Given the description of an element on the screen output the (x, y) to click on. 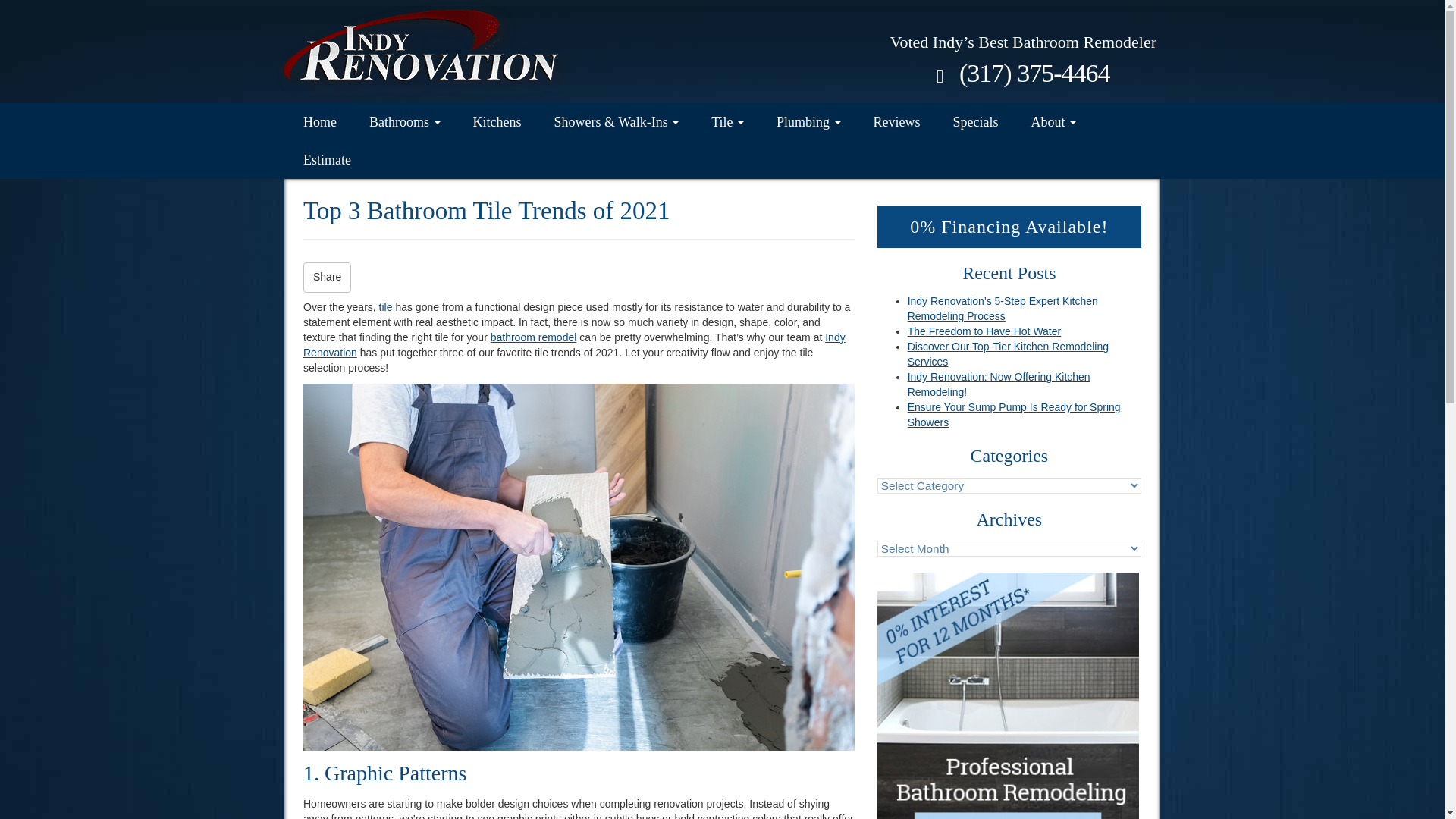
Indianapolis Bathroom Remodeling and Plumbing Services (319, 121)
Customer Reviews (897, 121)
